Given the description of an element on the screen output the (x, y) to click on. 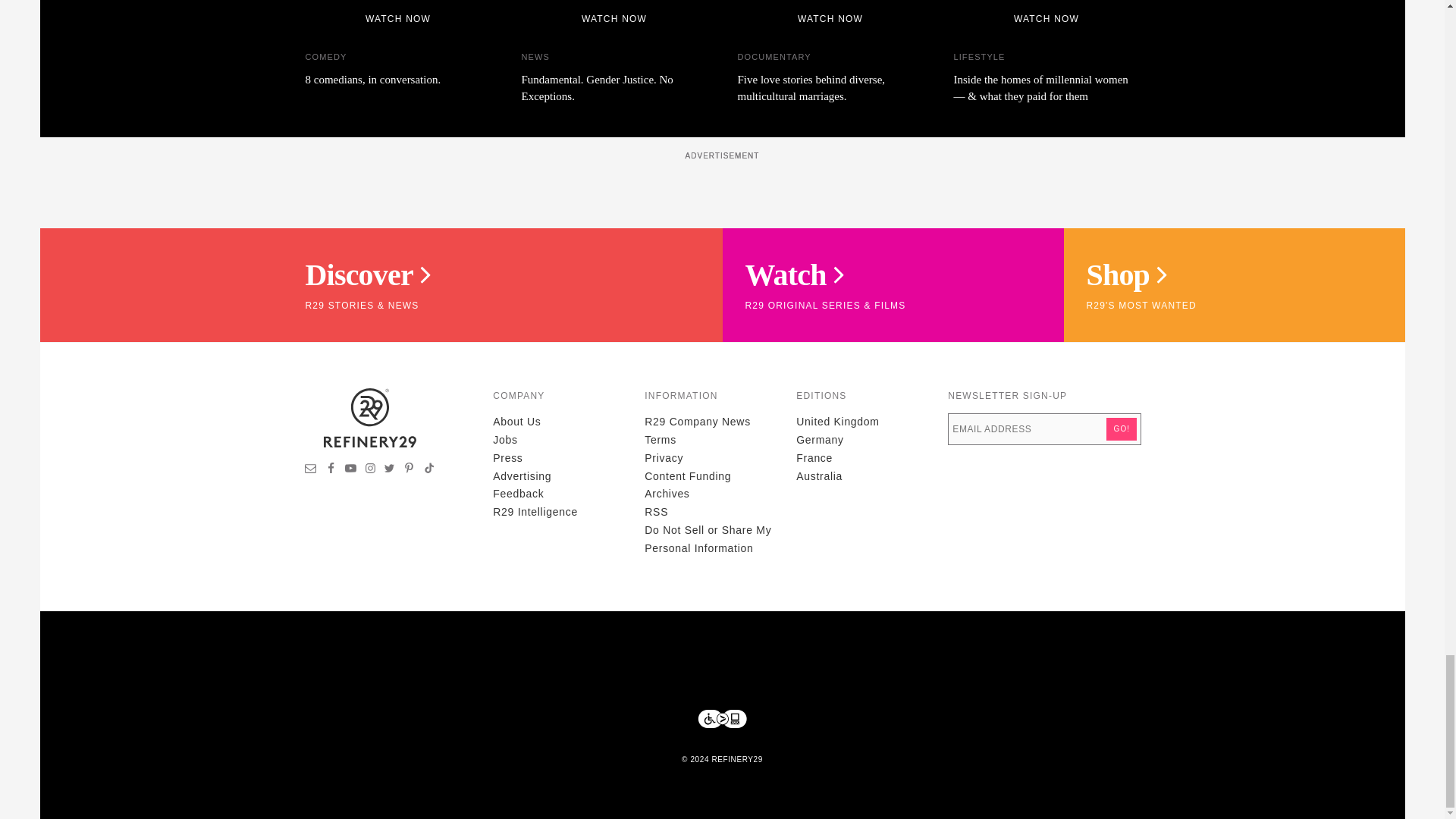
Visit Refinery29 on Facebook (331, 469)
Visit Refinery29 on YouTube (350, 469)
Visit Refinery29 on Instagram (370, 469)
Sign up for newsletters (310, 469)
Visit Refinery29 on Twitter (389, 469)
